Given the description of an element on the screen output the (x, y) to click on. 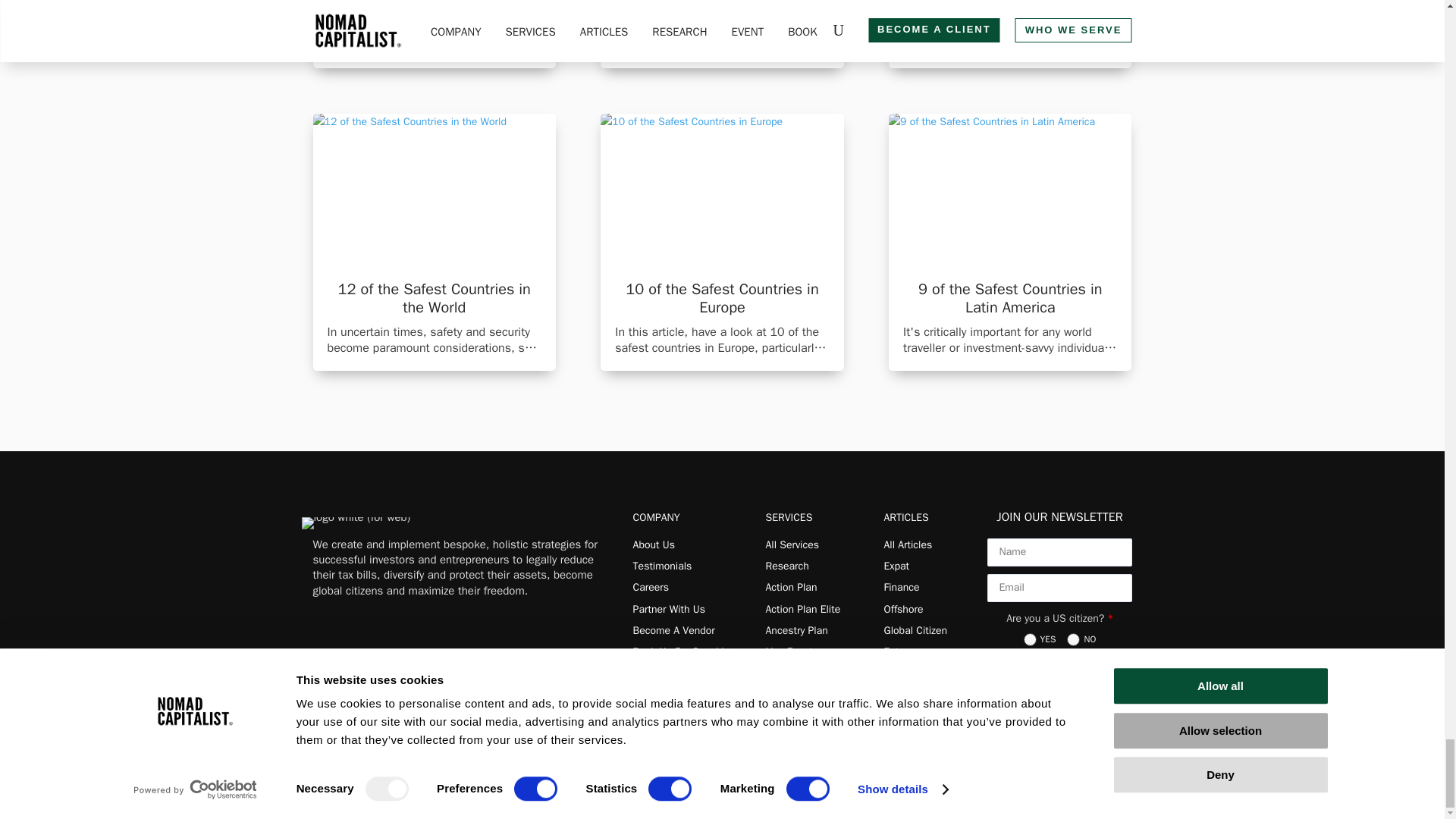
Yes (1029, 639)
No (1073, 639)
